Given the description of an element on the screen output the (x, y) to click on. 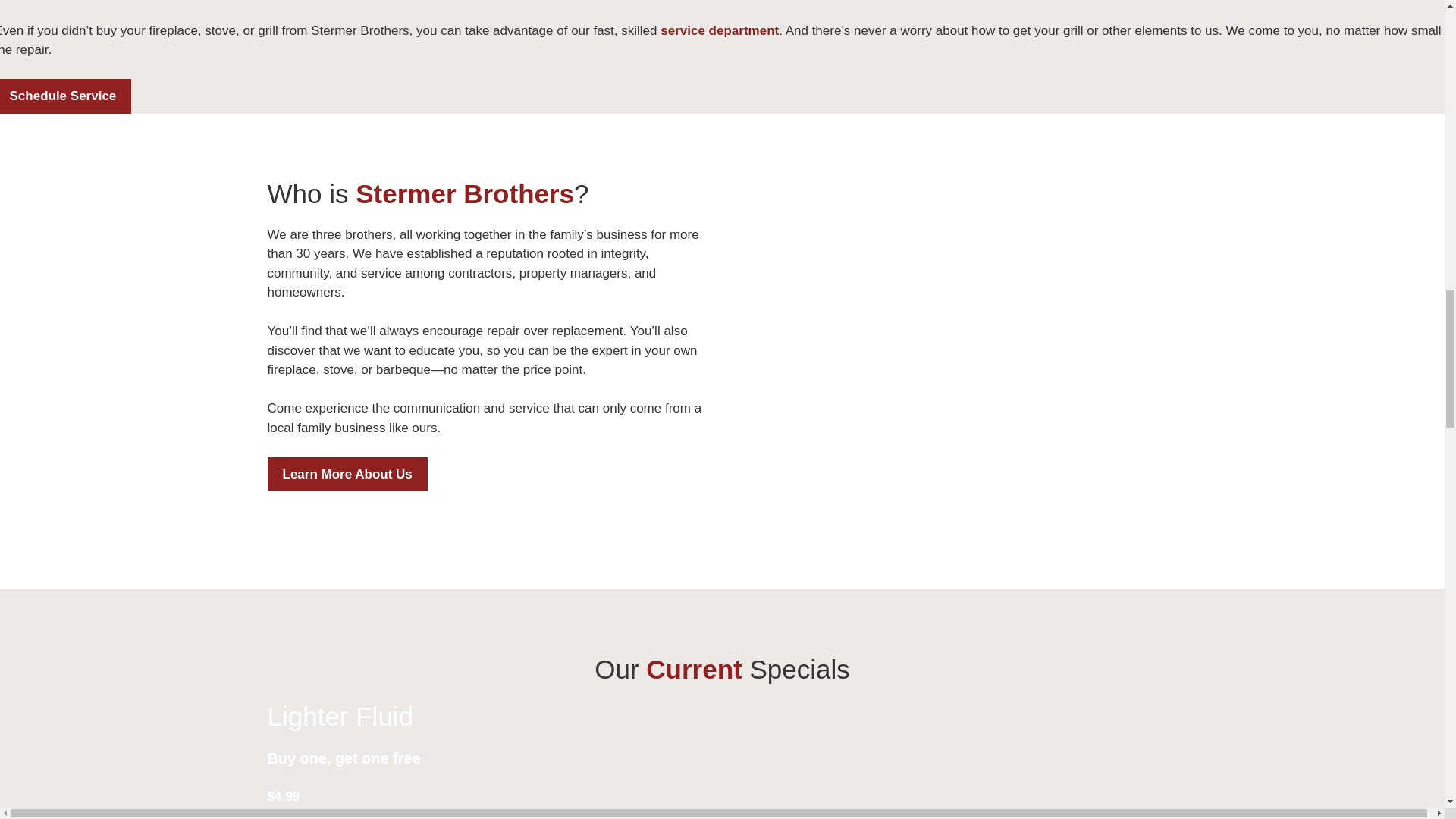
service department (719, 30)
Learn More About Us (346, 474)
Schedule Service (65, 95)
